Given the description of an element on the screen output the (x, y) to click on. 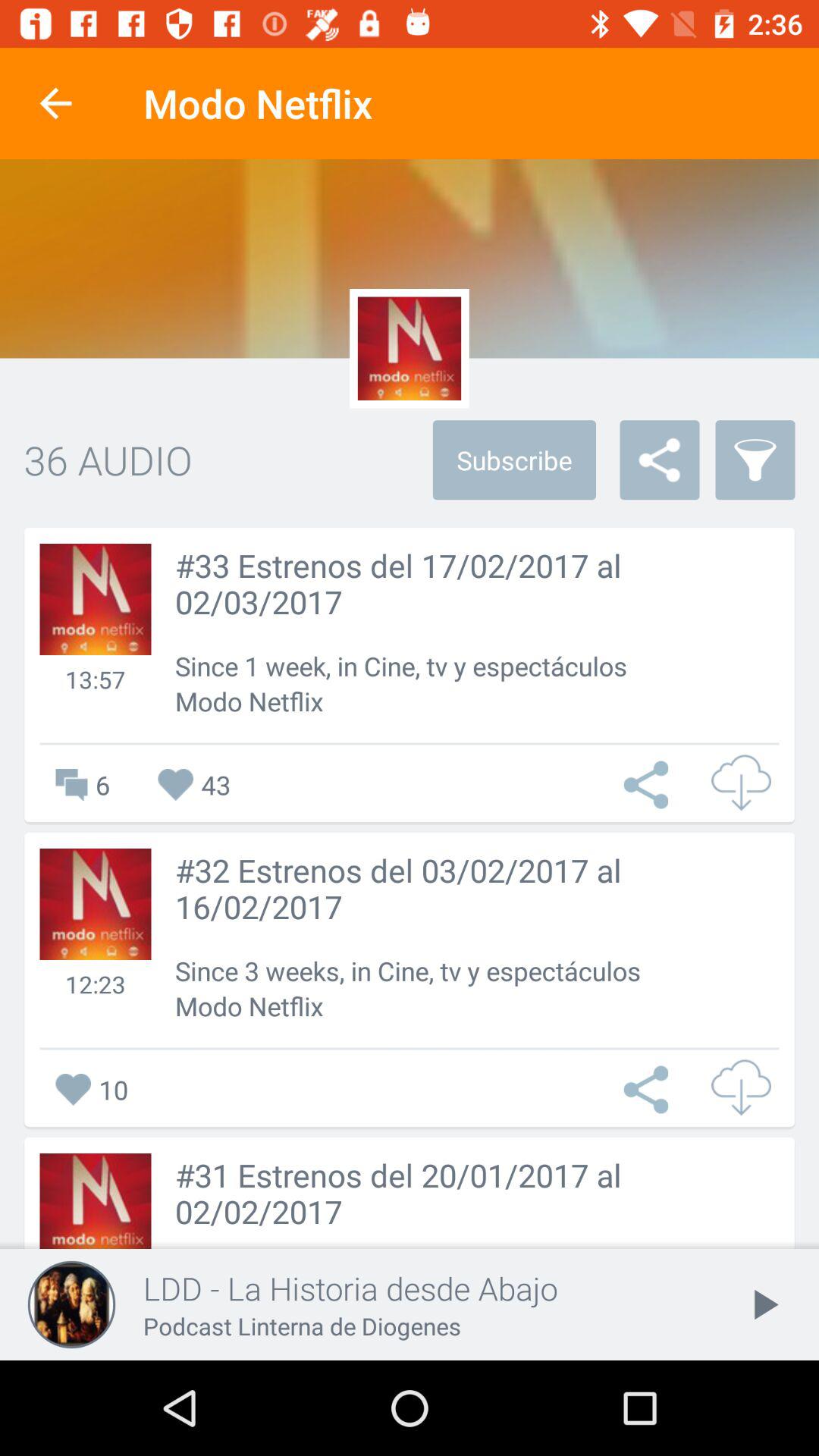
jump to the 6 item (74, 784)
